Given the description of an element on the screen output the (x, y) to click on. 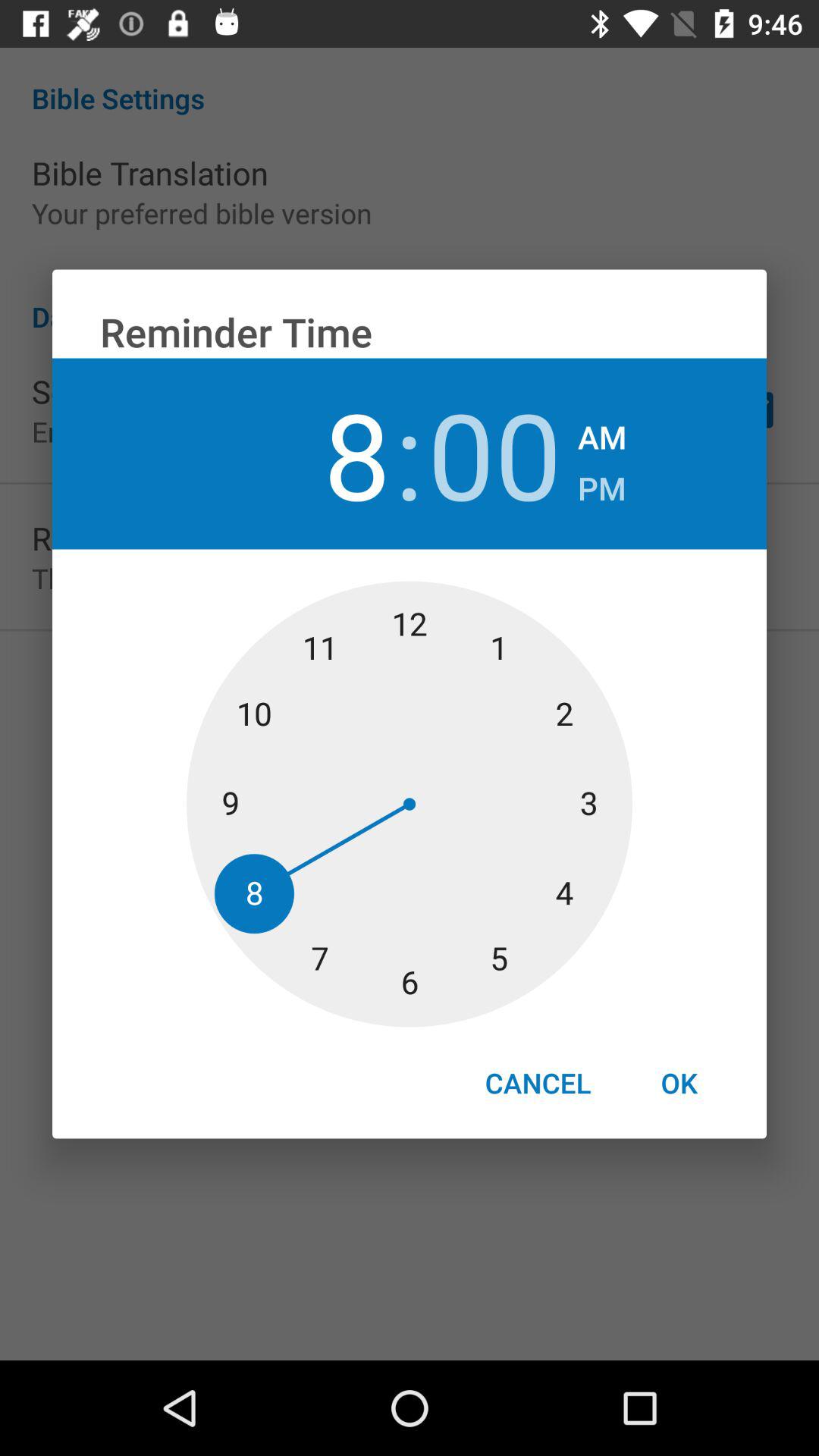
open checkbox to the left of am item (494, 453)
